Given the description of an element on the screen output the (x, y) to click on. 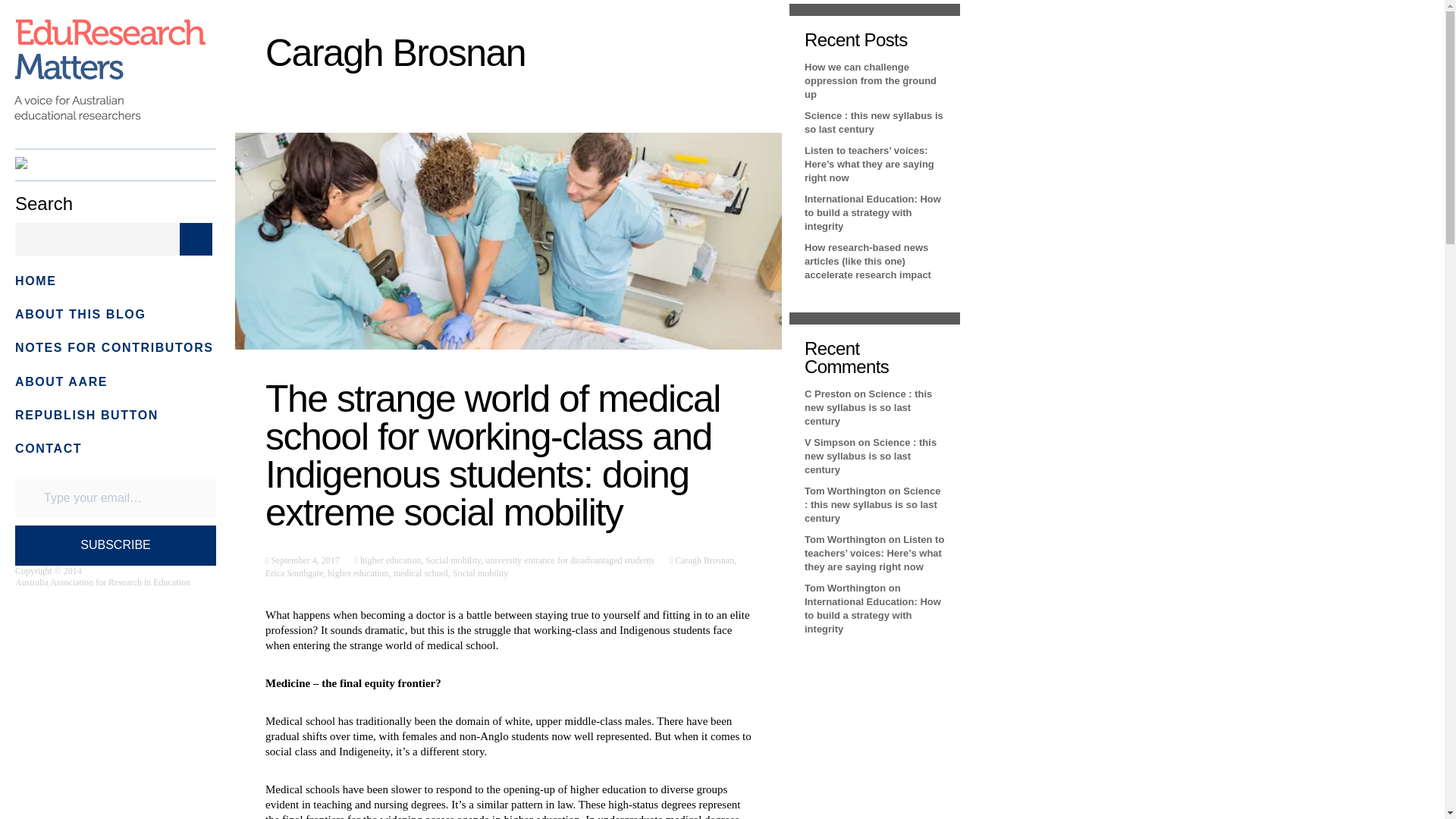
Social mobility (452, 560)
Science : this new syllabus is so last century (874, 122)
Caragh Brosnan (702, 560)
Social mobility (480, 573)
Science : this new syllabus is so last century (872, 504)
higher education (389, 560)
Science : this new syllabus is so last century (868, 407)
REPUBLISH BUTTON (86, 414)
university entrance for disadvantaged students (568, 560)
Science : this new syllabus is so last century (870, 455)
Go (195, 238)
Tom Worthington (845, 490)
Go (195, 238)
